Given the description of an element on the screen output the (x, y) to click on. 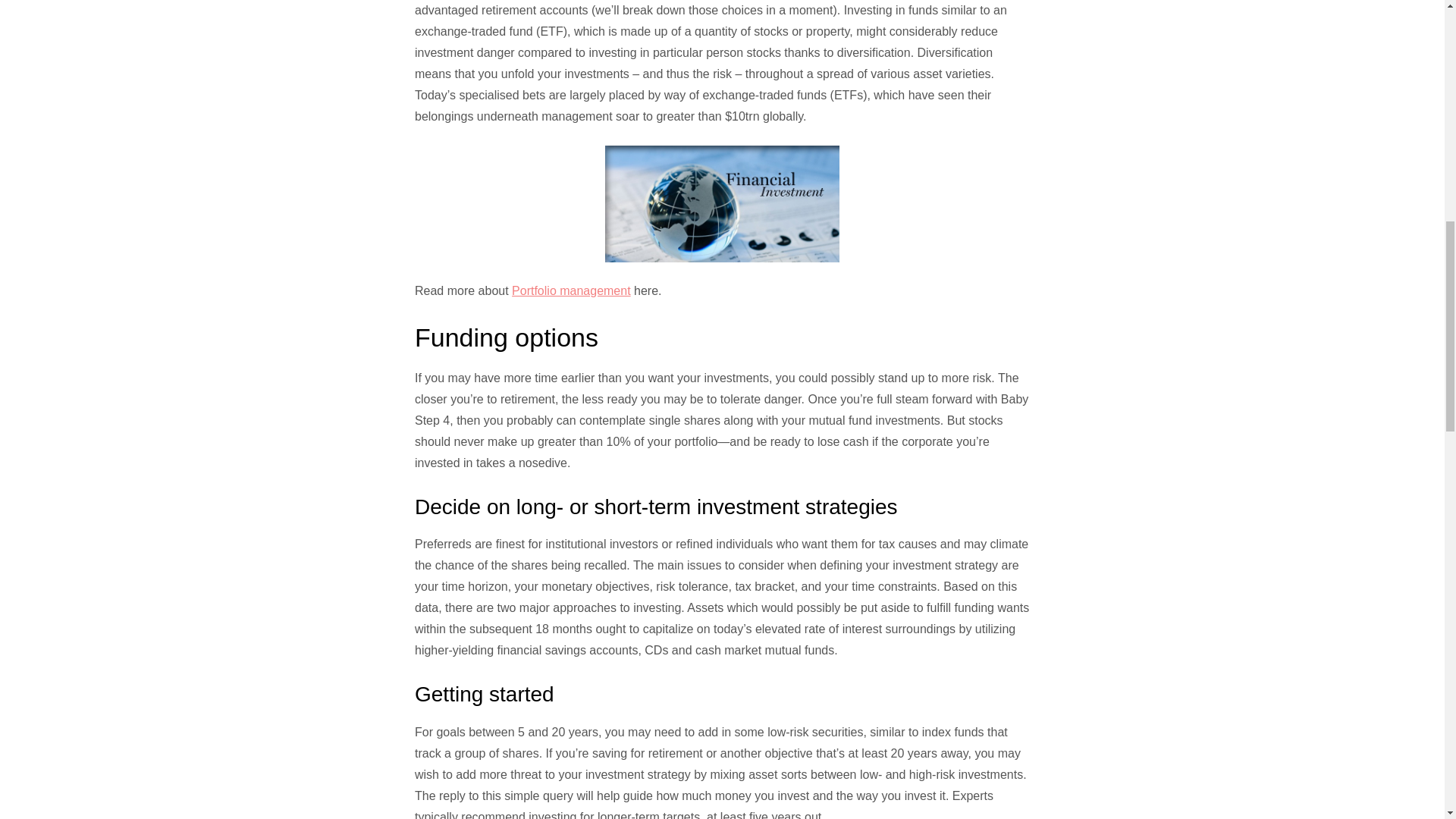
Portfolio management (571, 290)
